Given the description of an element on the screen output the (x, y) to click on. 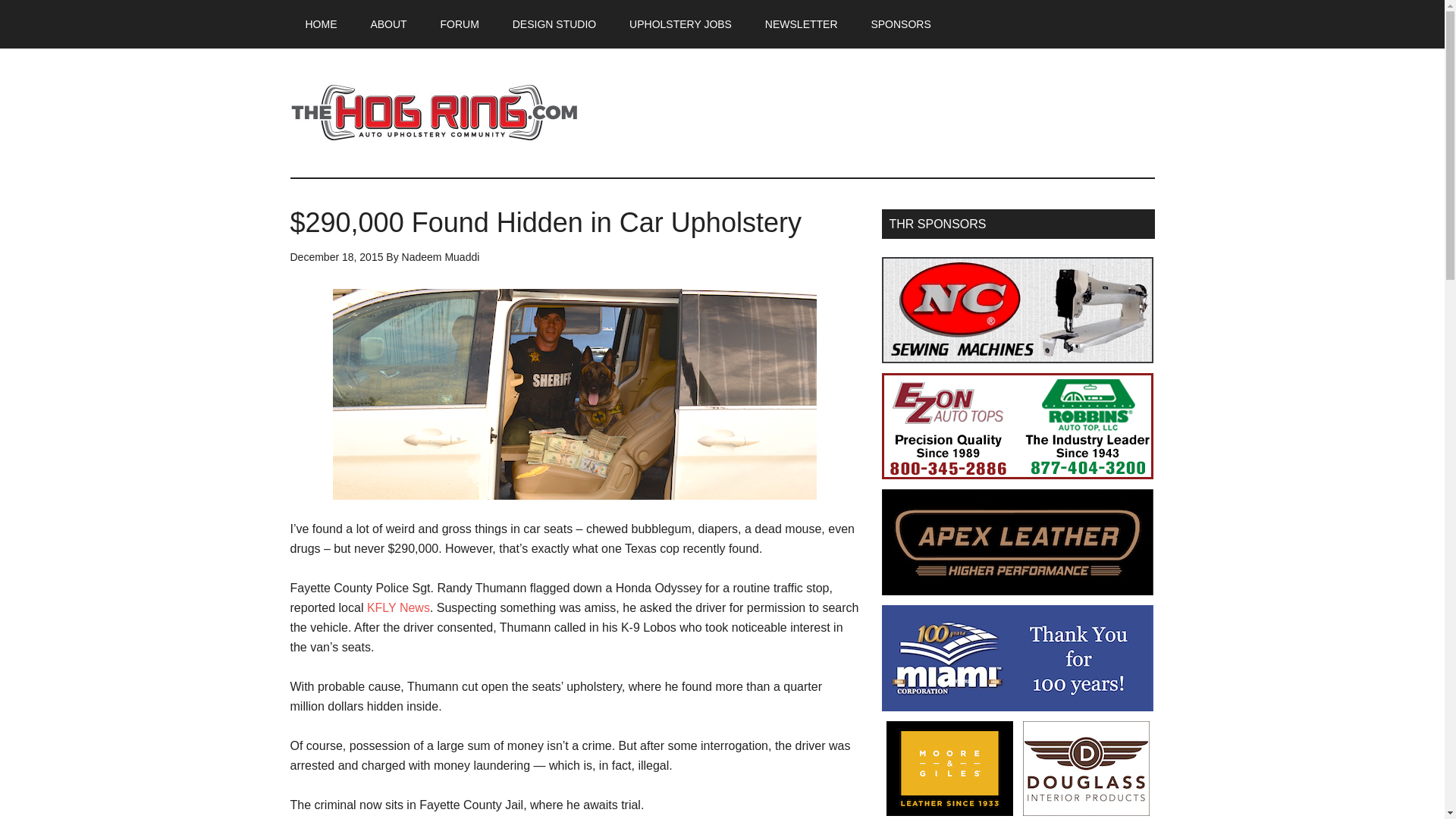
UPHOLSTERY JOBS (680, 24)
ABOUT (388, 24)
Nadeem Muaddi (440, 256)
The Hog Ring (433, 112)
FORUM (460, 24)
DESIGN STUDIO (554, 24)
KFLY News (397, 607)
NEWSLETTER (801, 24)
SPONSORS (900, 24)
HOME (320, 24)
